Given the description of an element on the screen output the (x, y) to click on. 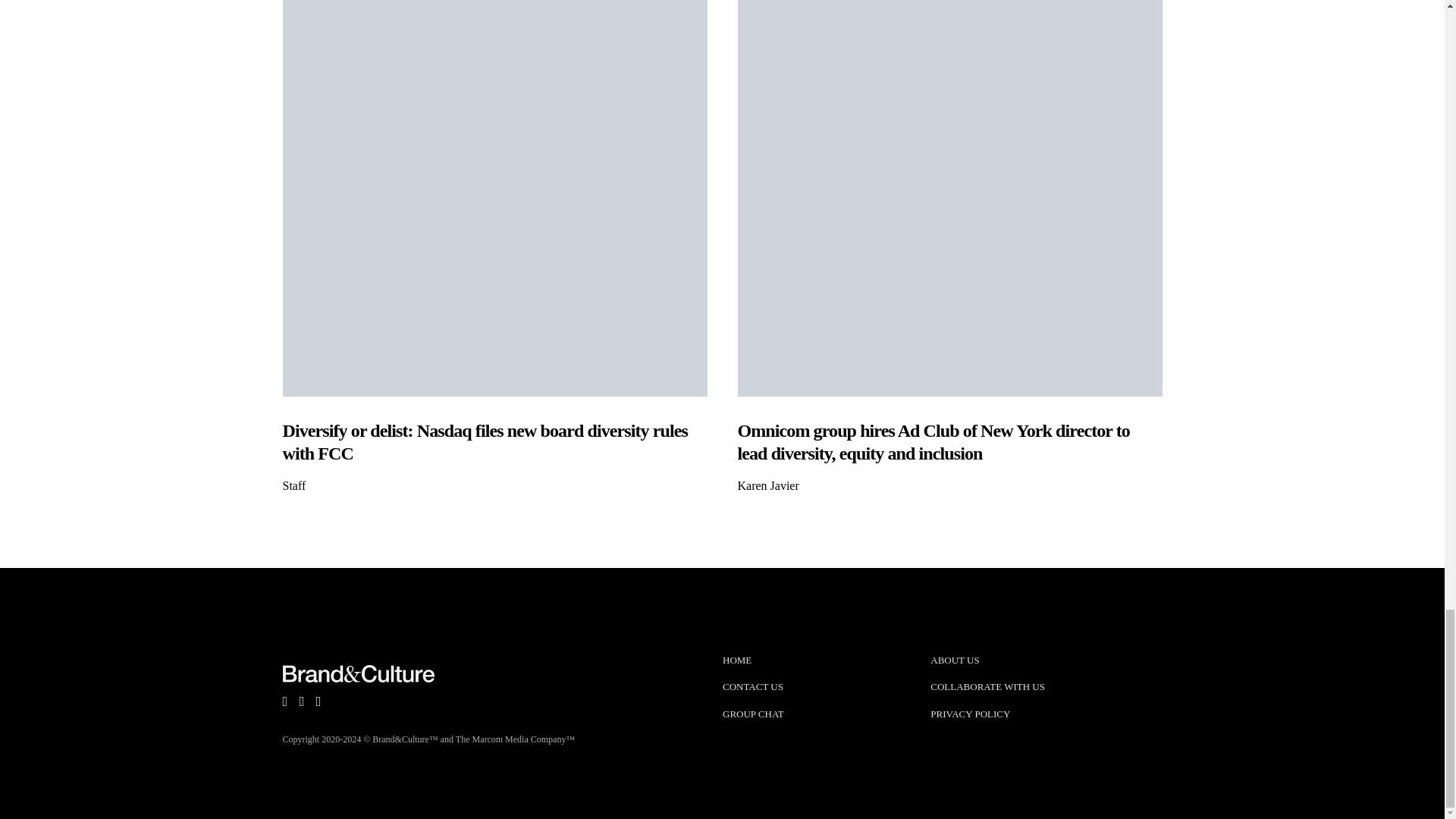
View all posts by Karen Javier (766, 485)
View all posts by Staff (293, 485)
